Given the description of an element on the screen output the (x, y) to click on. 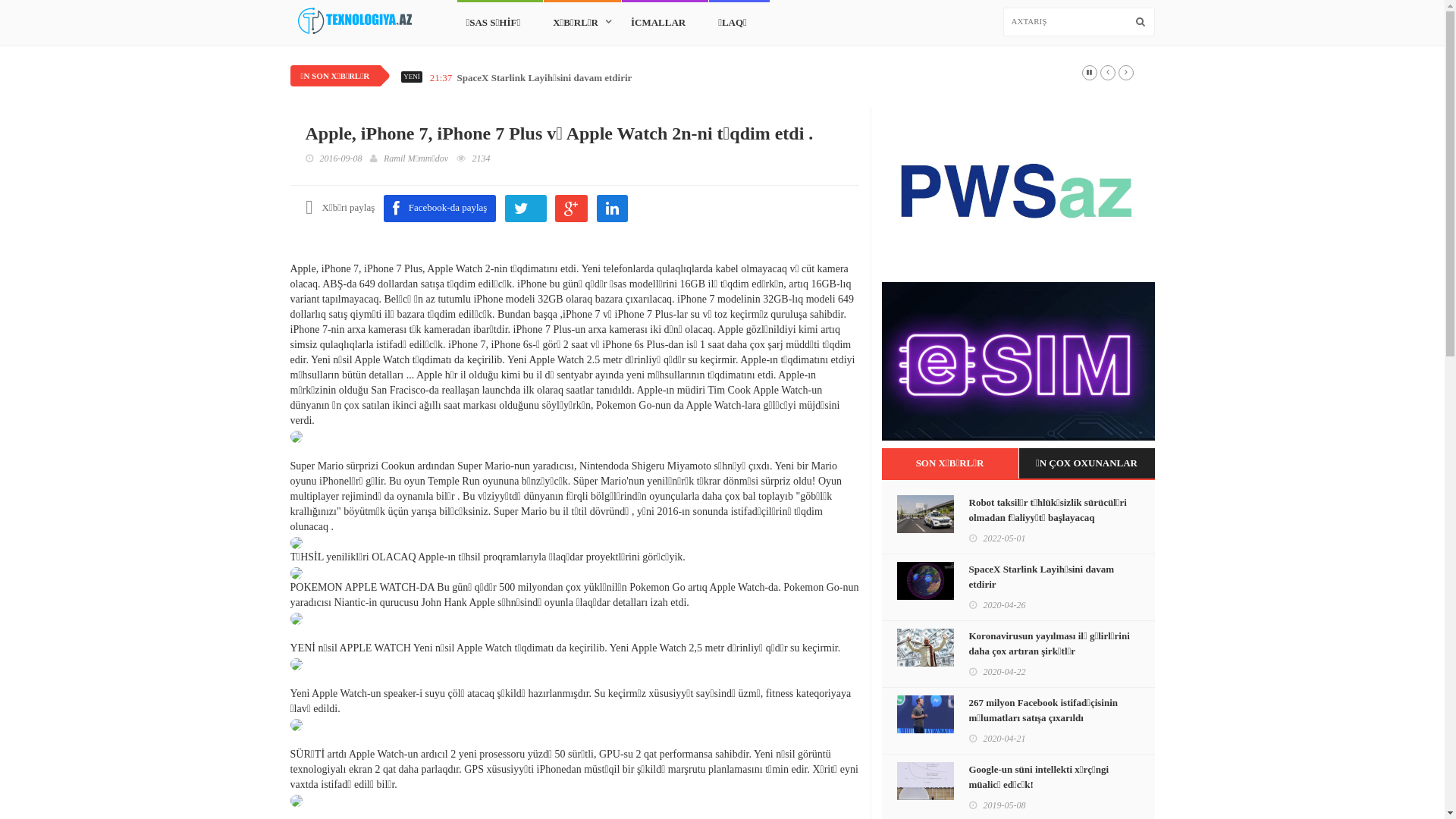
Veb sayt sifaris et Element type: hover (1017, 194)
